Given the description of an element on the screen output the (x, y) to click on. 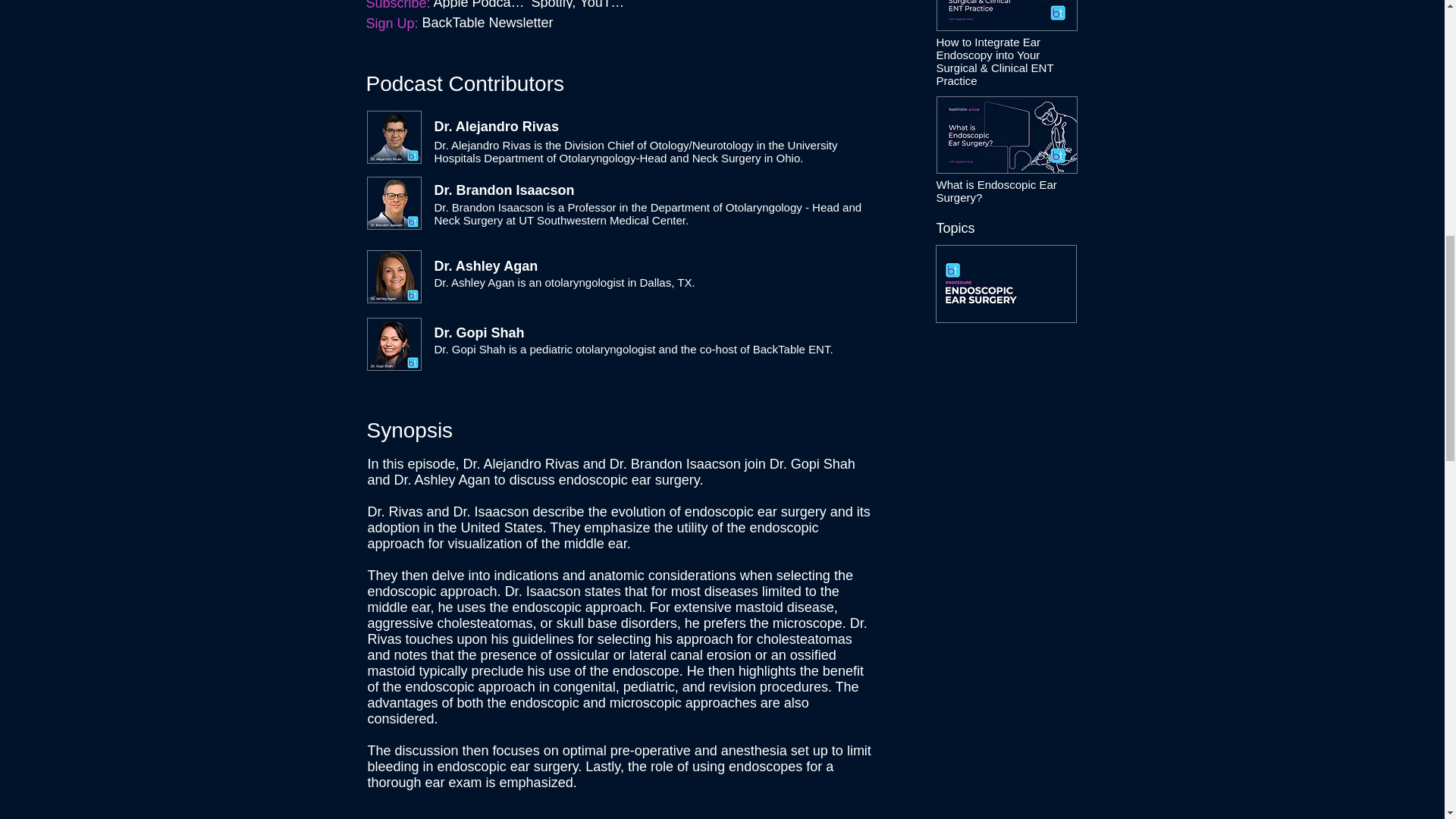
ent-1-dr-gopi-shah.jpg (394, 344)
What is Endoscopic Ear Surgery?  (1006, 134)
ent-17-dr-alejandro-rivas.jpg (394, 136)
Endoscopic Ear Surgery (1006, 283)
ent-1-dr-ashley-agan.jpg (394, 276)
ent-17-dr-brandon-isaacson.jpg (394, 203)
